Given the description of an element on the screen output the (x, y) to click on. 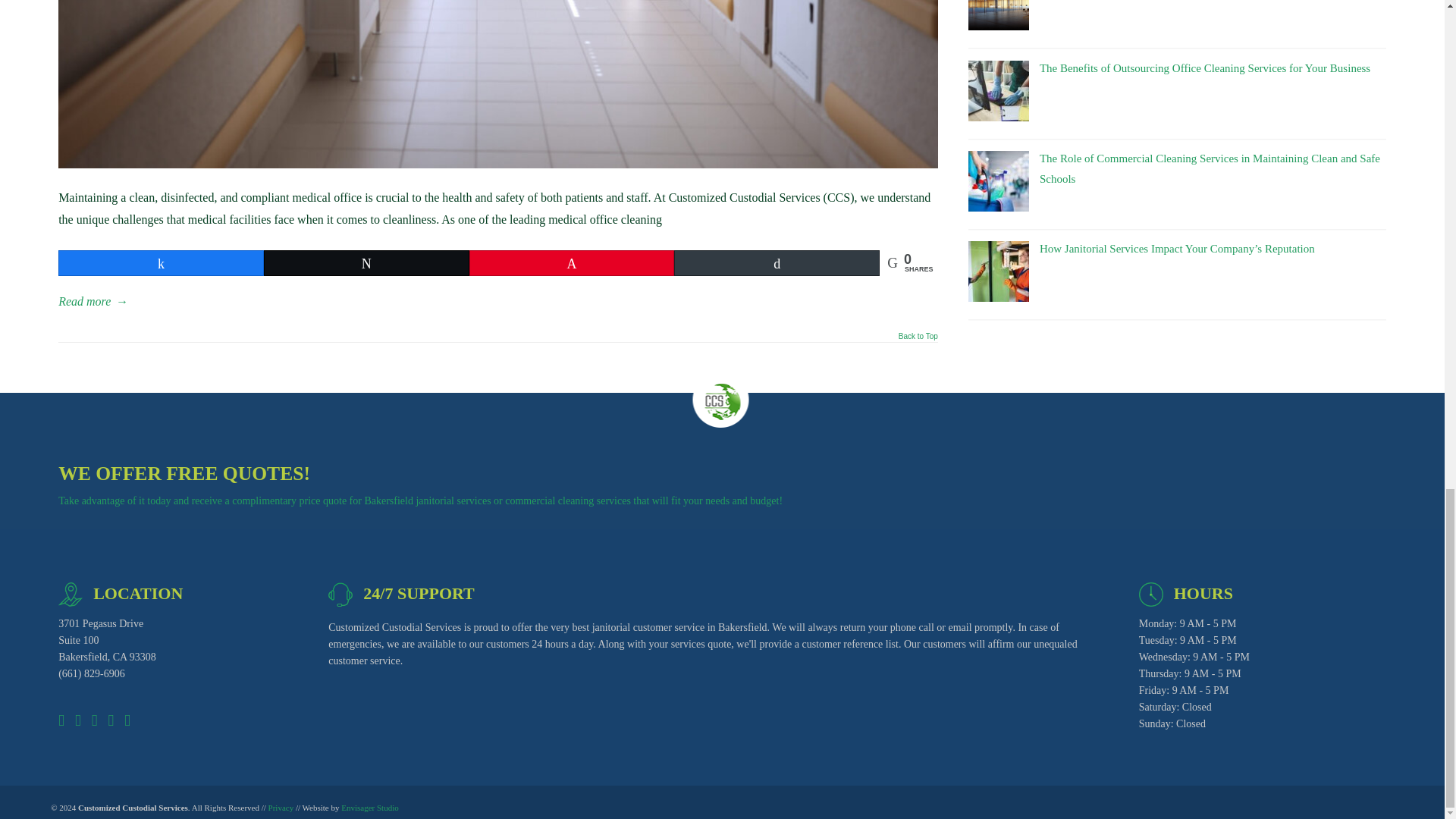
Read more (93, 301)
Top of Page (917, 340)
